Given the description of an element on the screen output the (x, y) to click on. 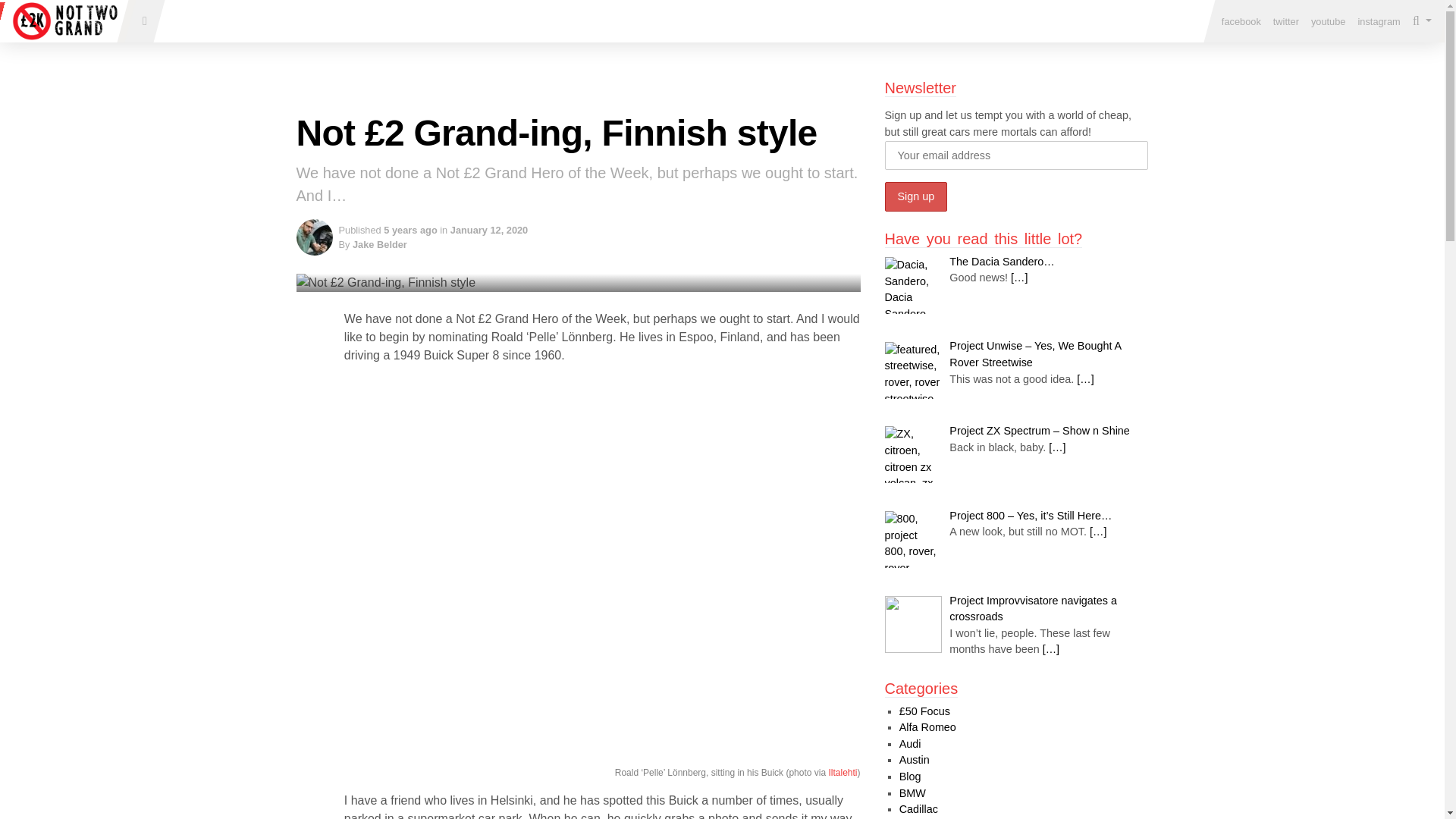
instagram (1379, 21)
youtube (1328, 21)
twitter (1285, 21)
Posts by Jake Belder (379, 244)
Sign up (915, 196)
facebook (1240, 21)
